Given the description of an element on the screen output the (x, y) to click on. 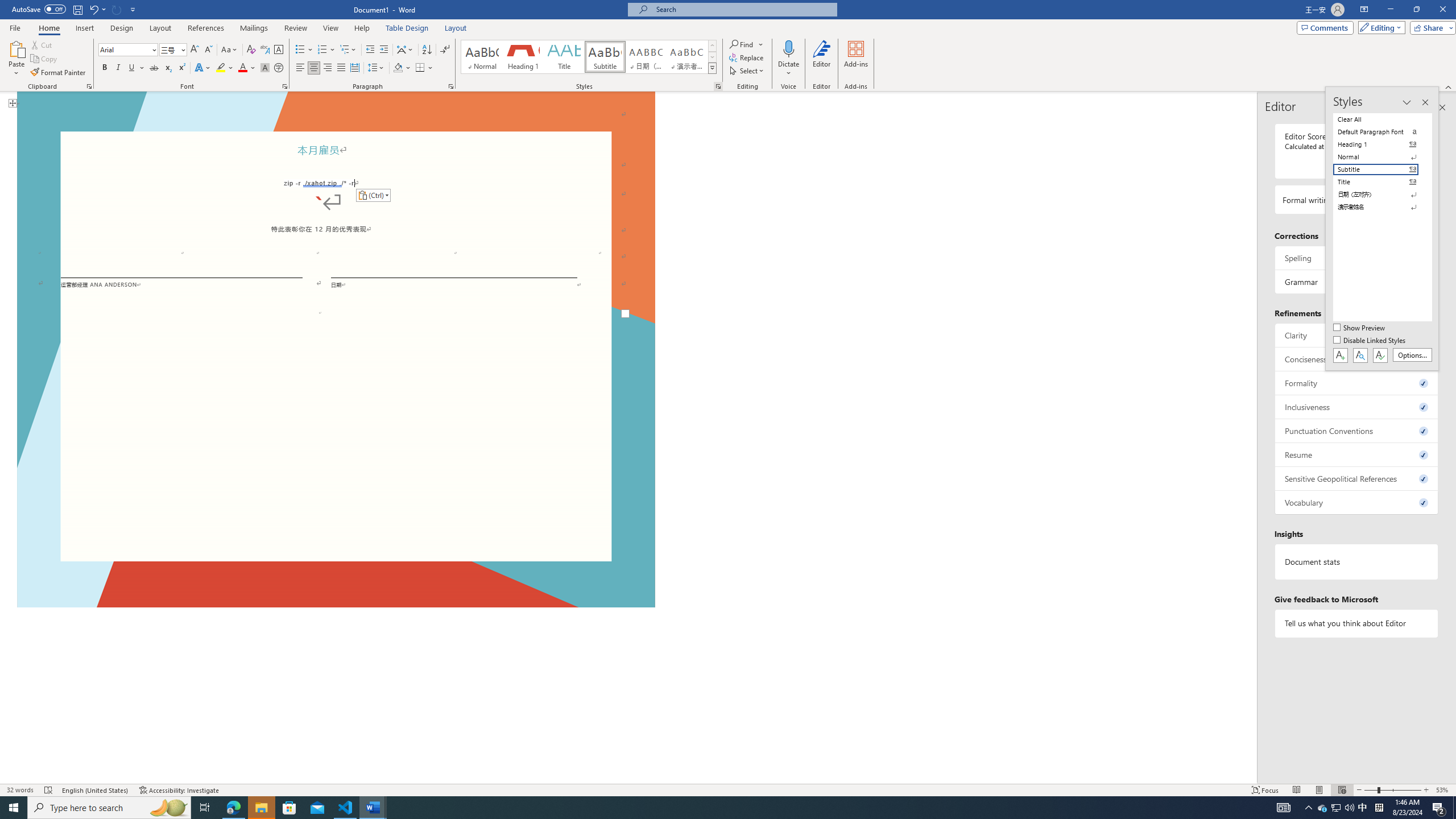
Word Count 32 words (19, 790)
Subtitle (605, 56)
Formality, 0 issues. Press space or enter to review items. (1356, 382)
Spelling, 0 issues. Press space or enter to review items. (1356, 257)
